Given the description of an element on the screen output the (x, y) to click on. 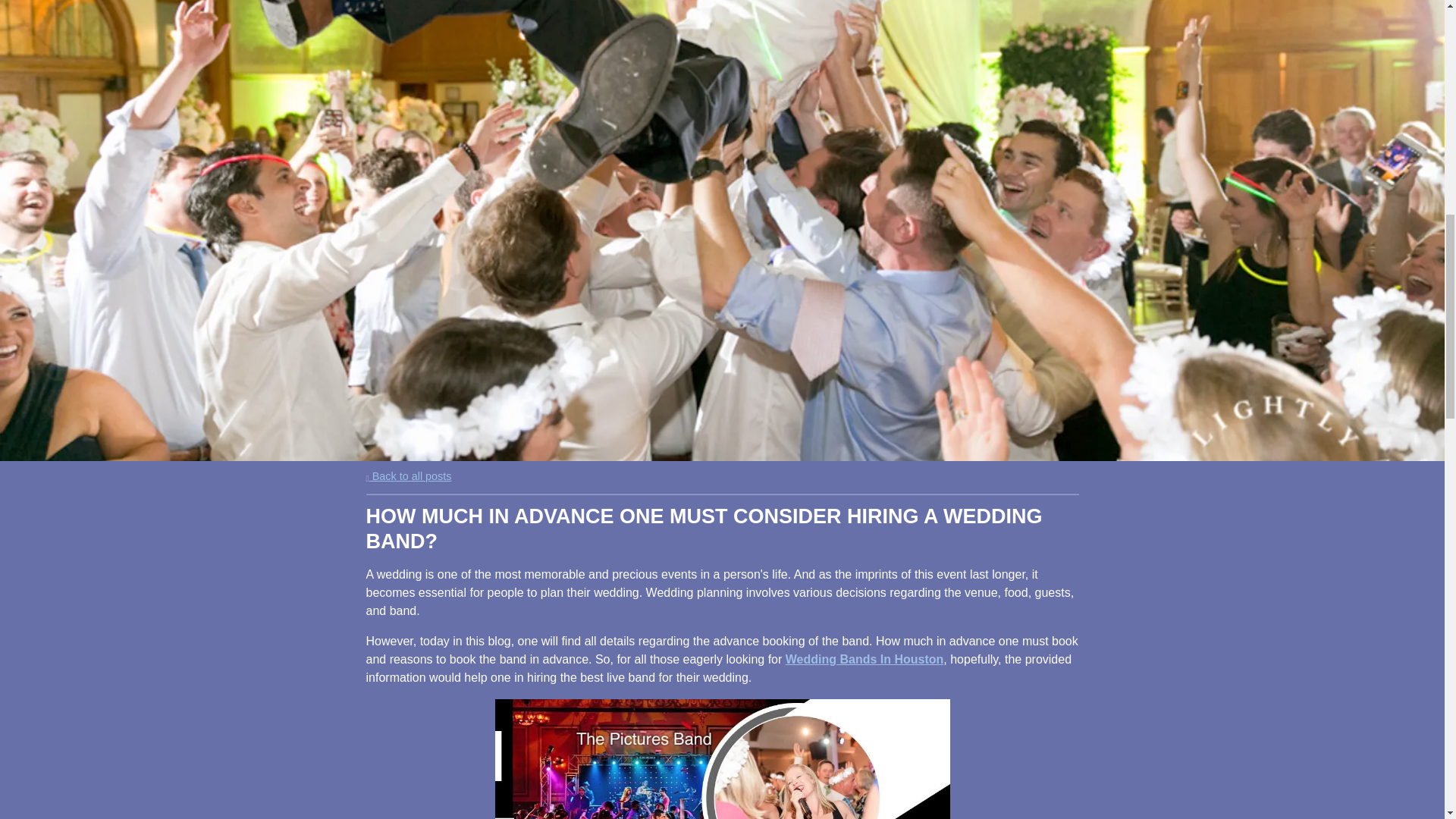
Back to all posts (408, 476)
Wedding Bands In Houston (864, 658)
